Given the description of an element on the screen output the (x, y) to click on. 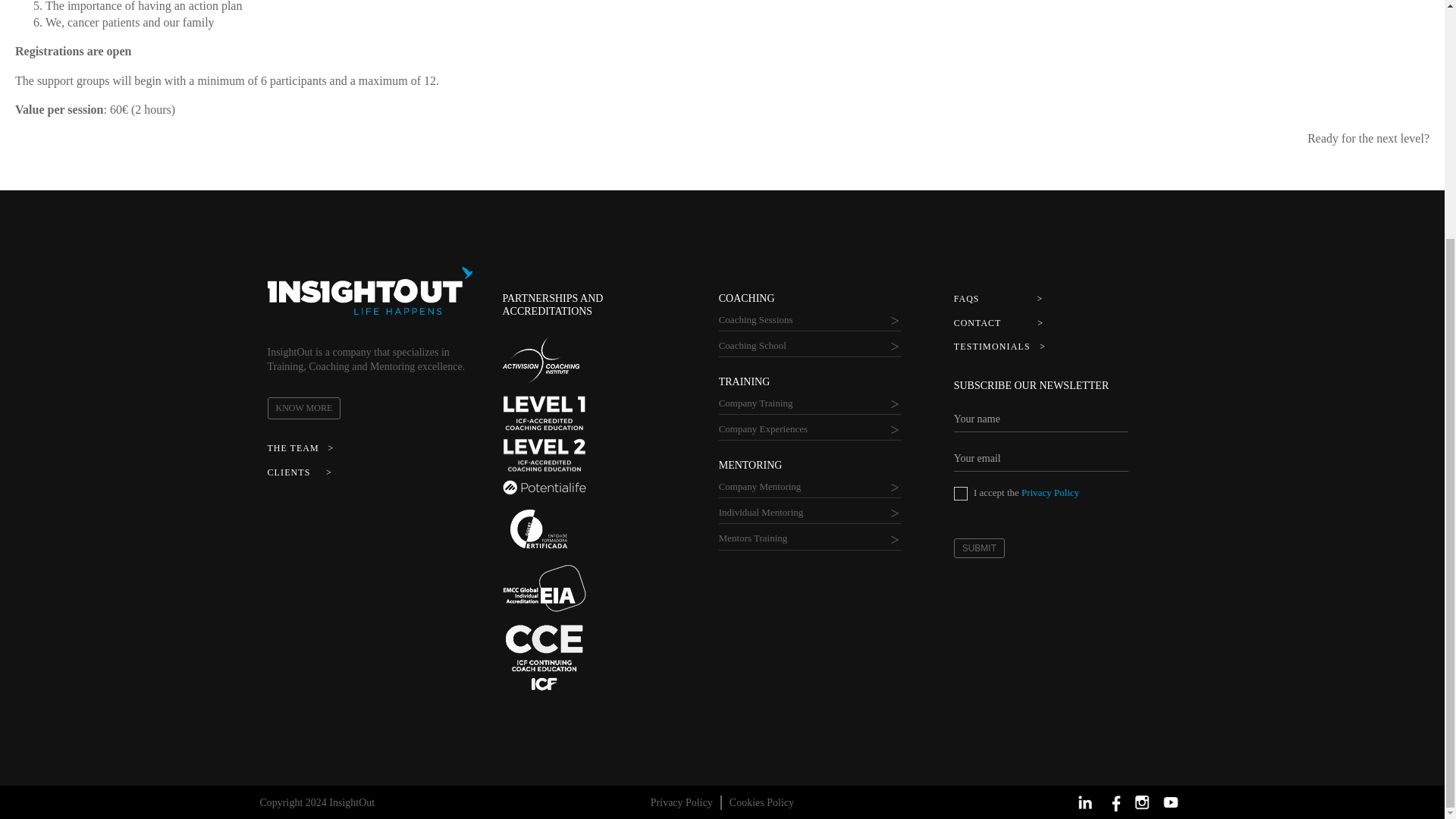
Privacy Policy (960, 493)
